Given the description of an element on the screen output the (x, y) to click on. 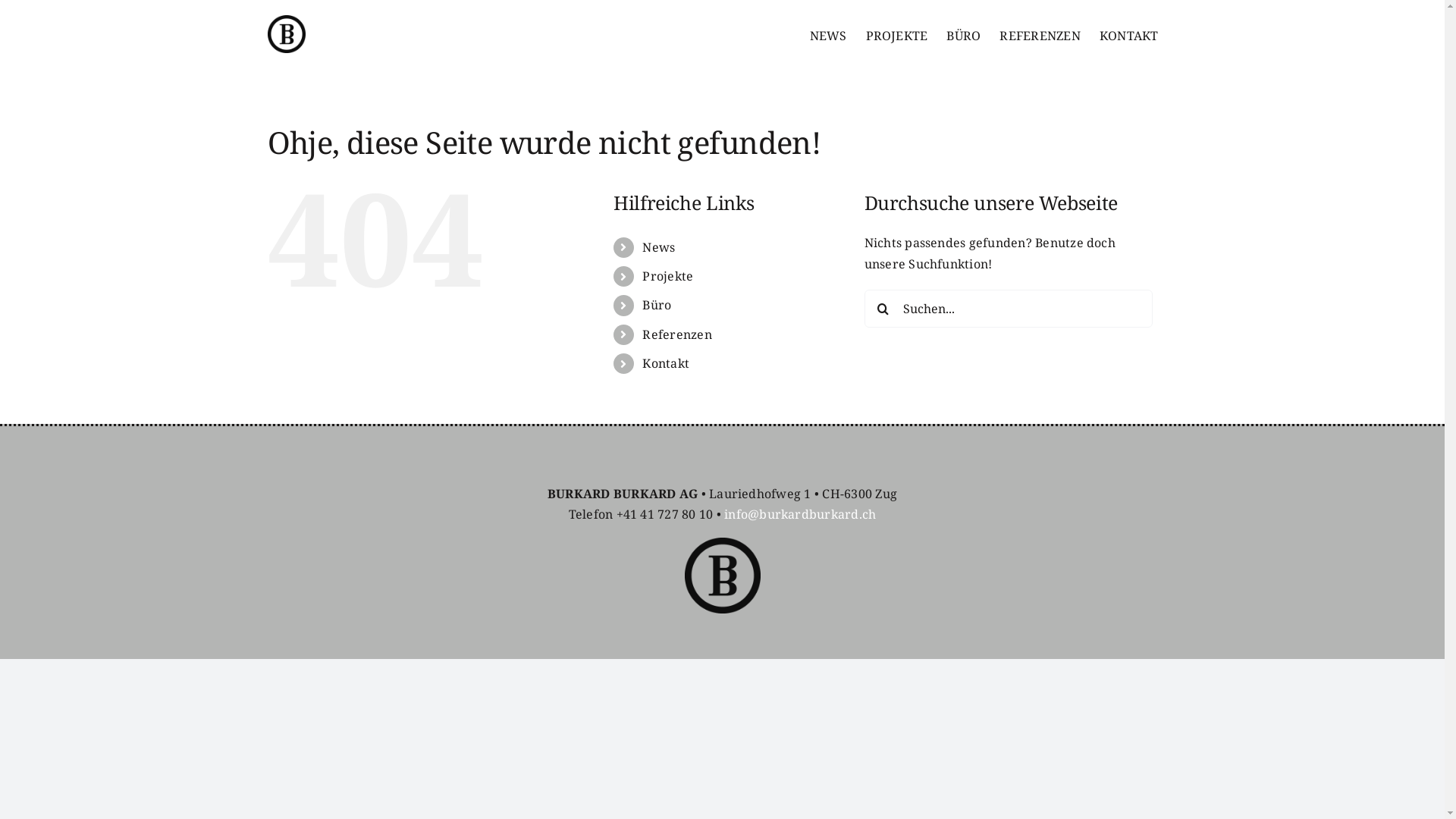
KONTAKT Element type: text (1128, 35)
bblogo Element type: hover (721, 575)
REFERENZEN Element type: text (1039, 35)
info@burkardburkard.ch Element type: text (799, 513)
Referenzen Element type: text (676, 334)
News Element type: text (658, 246)
Kontakt Element type: text (665, 362)
Projekte Element type: text (667, 275)
PROJEKTE Element type: text (897, 35)
NEWS Element type: text (828, 35)
